Given the description of an element on the screen output the (x, y) to click on. 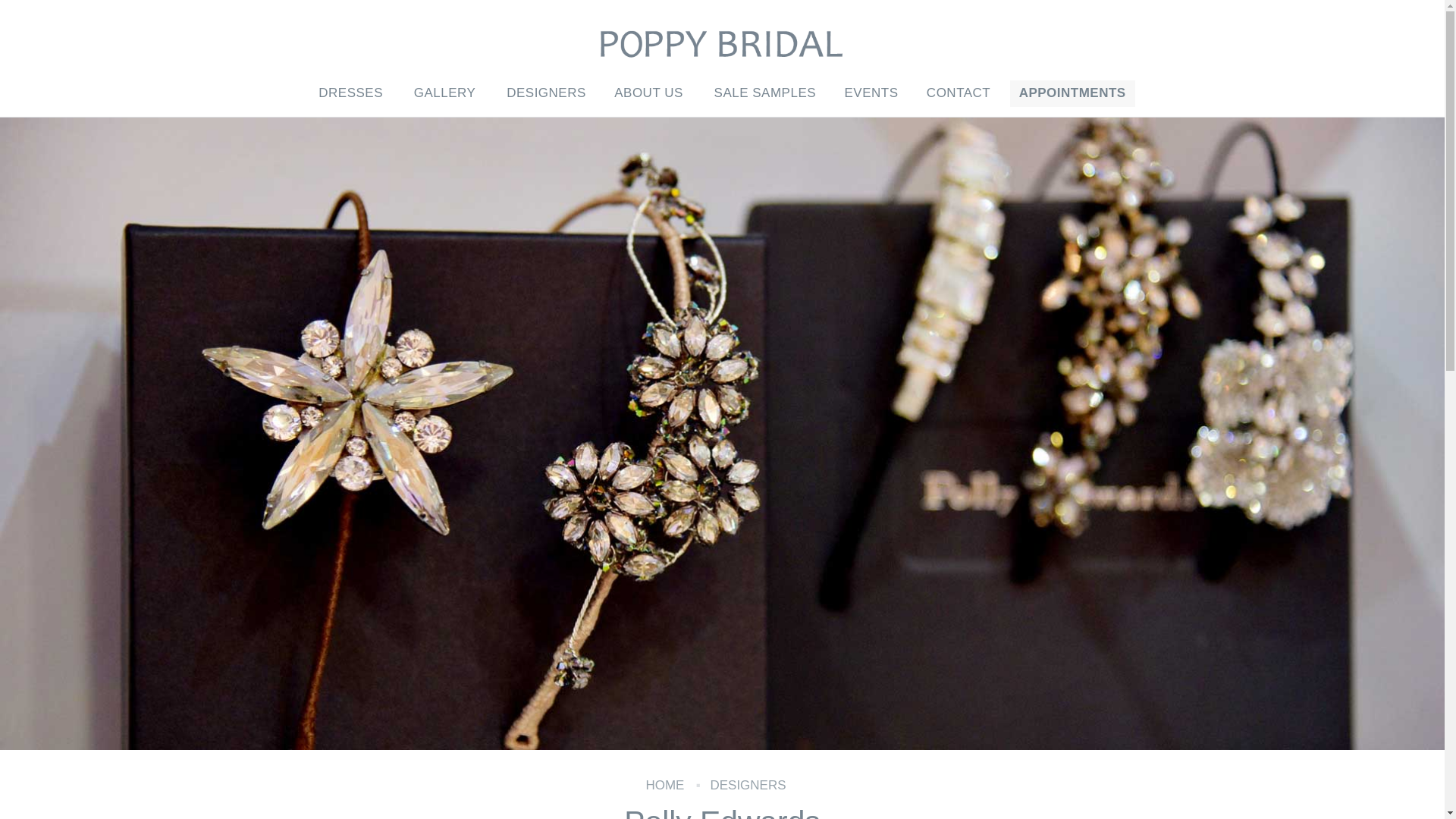
DRESSES (351, 93)
DESIGNERS (748, 785)
EVENTS (871, 93)
DESIGNERS (545, 93)
GALLERY (445, 93)
APPOINTMENTS (1072, 93)
ABOUT US (649, 93)
SALE SAMPLES (764, 93)
CONTACT (957, 93)
HOME (664, 785)
